Given the description of an element on the screen output the (x, y) to click on. 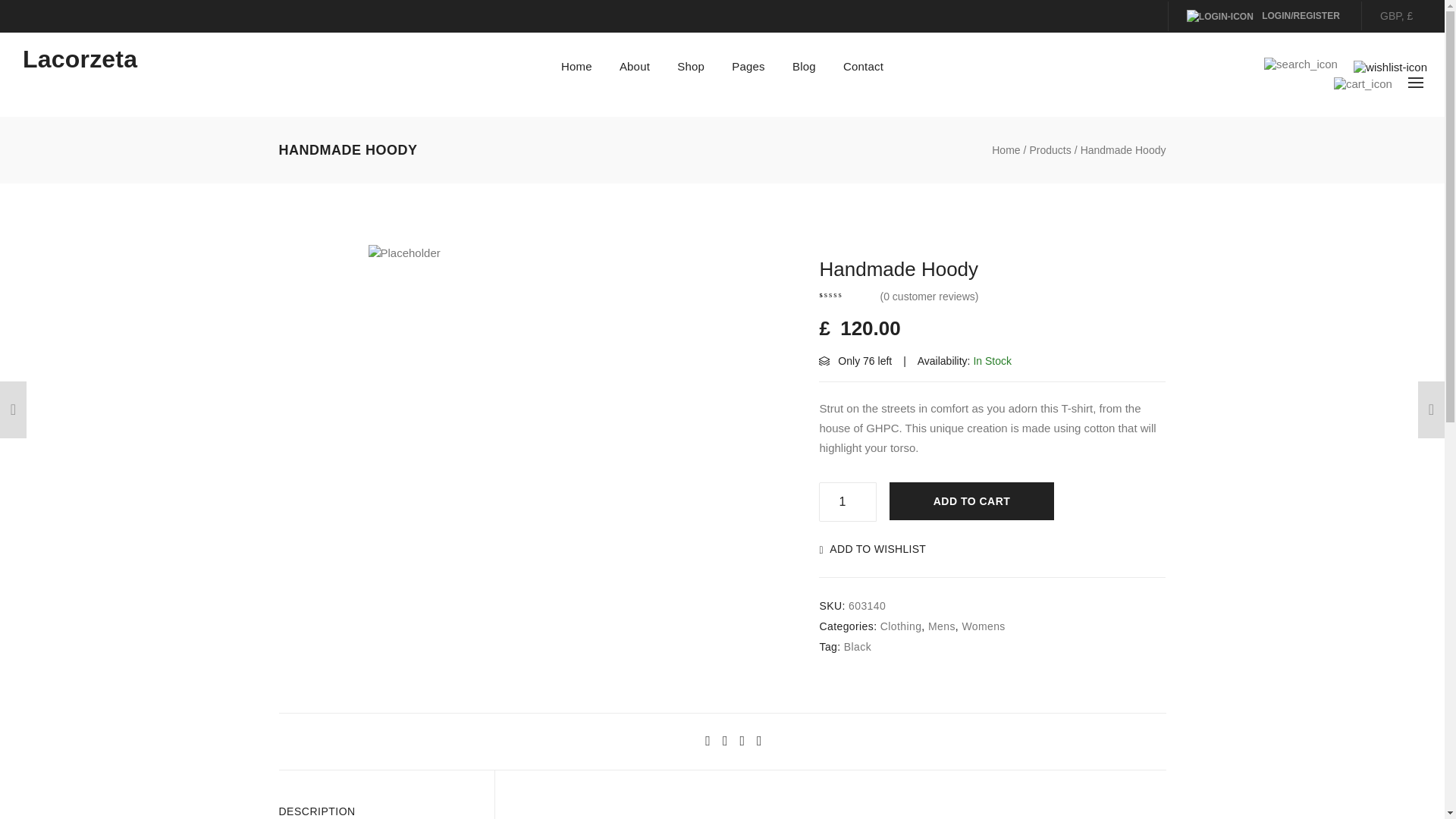
Shop (690, 65)
Home (576, 65)
1 (847, 501)
About (634, 65)
Qty (847, 501)
Lacorzeta (79, 59)
